Given the description of an element on the screen output the (x, y) to click on. 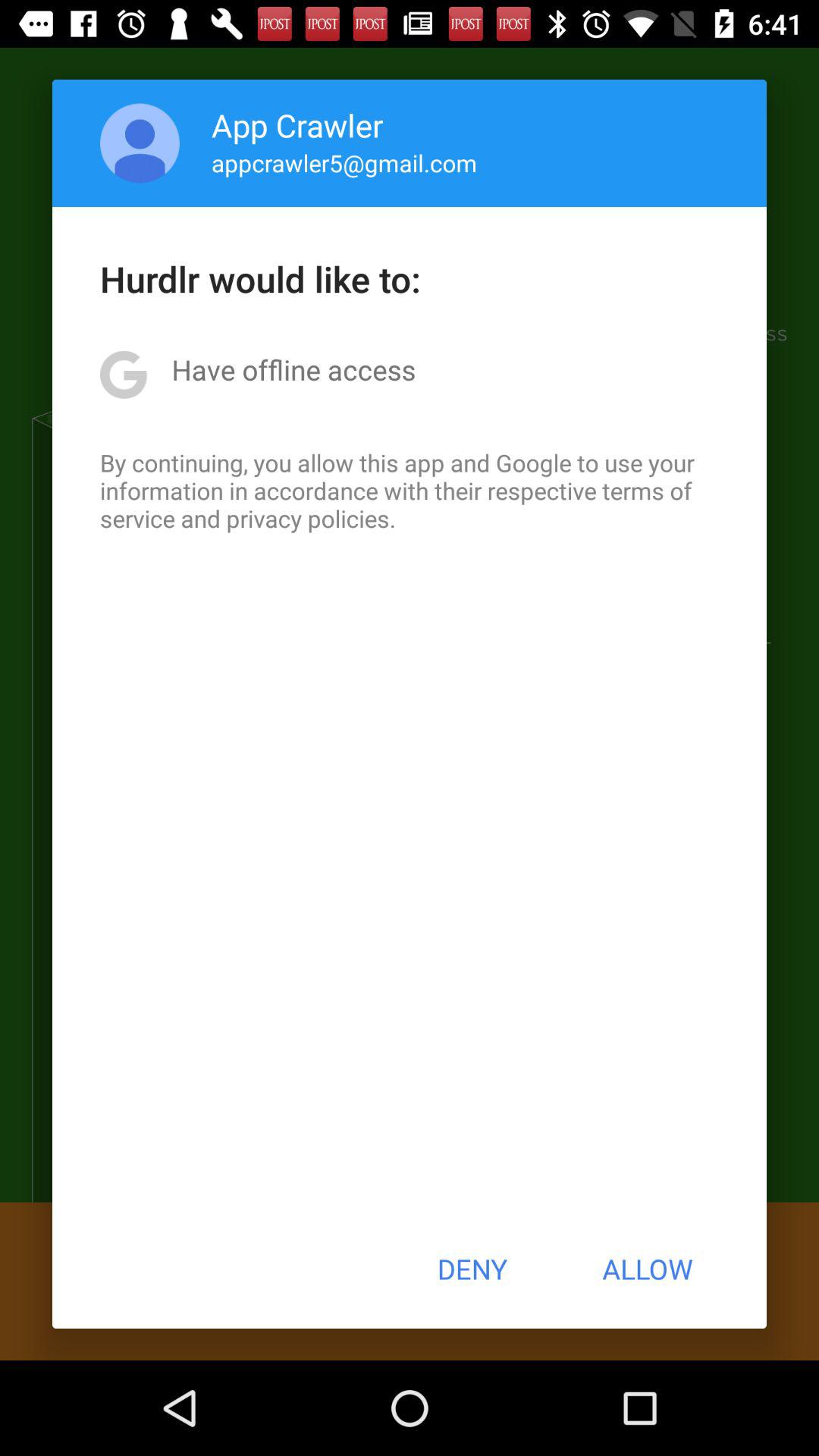
open icon above by continuing you app (293, 369)
